Given the description of an element on the screen output the (x, y) to click on. 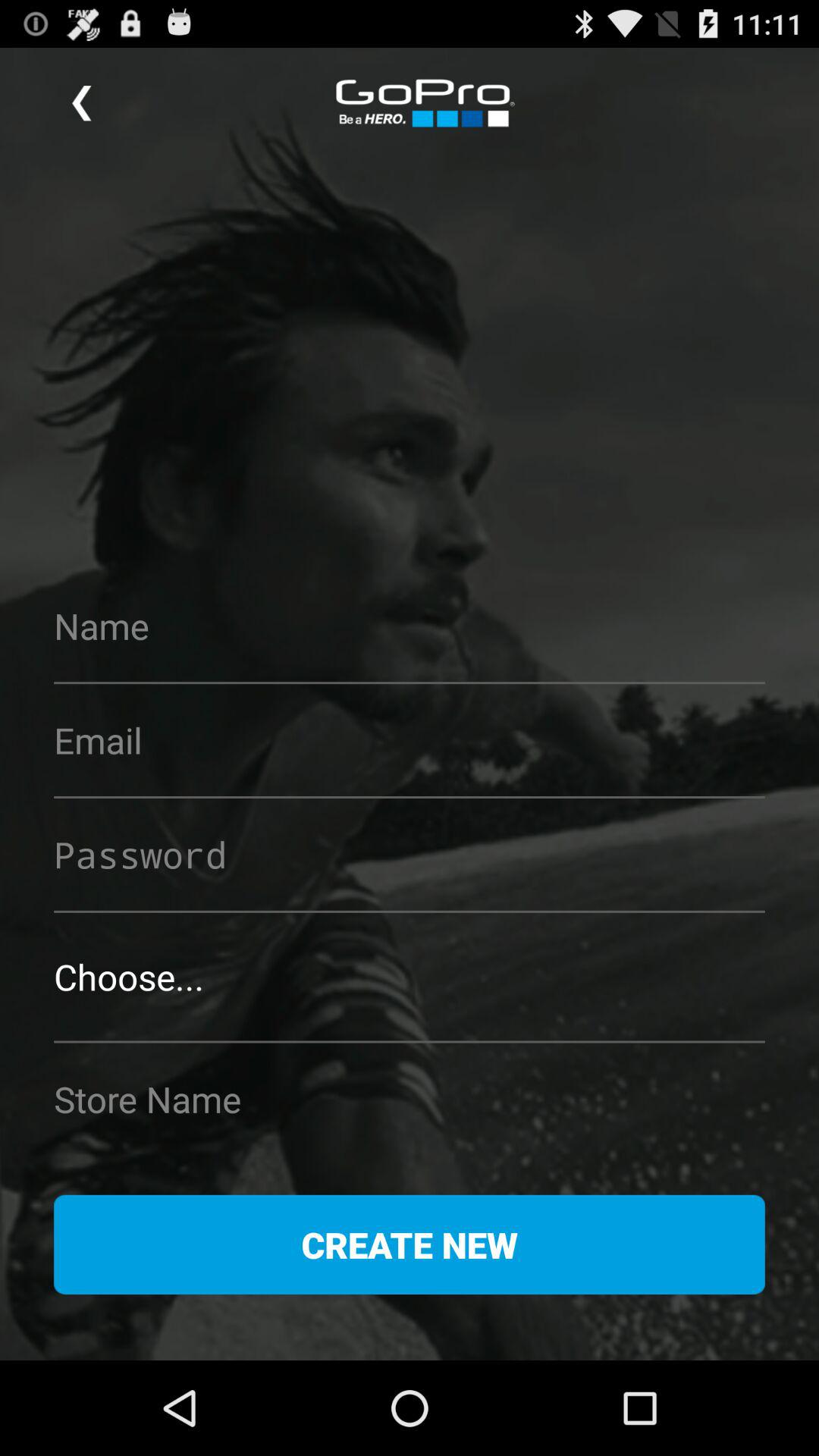
enter store name (409, 1099)
